Given the description of an element on the screen output the (x, y) to click on. 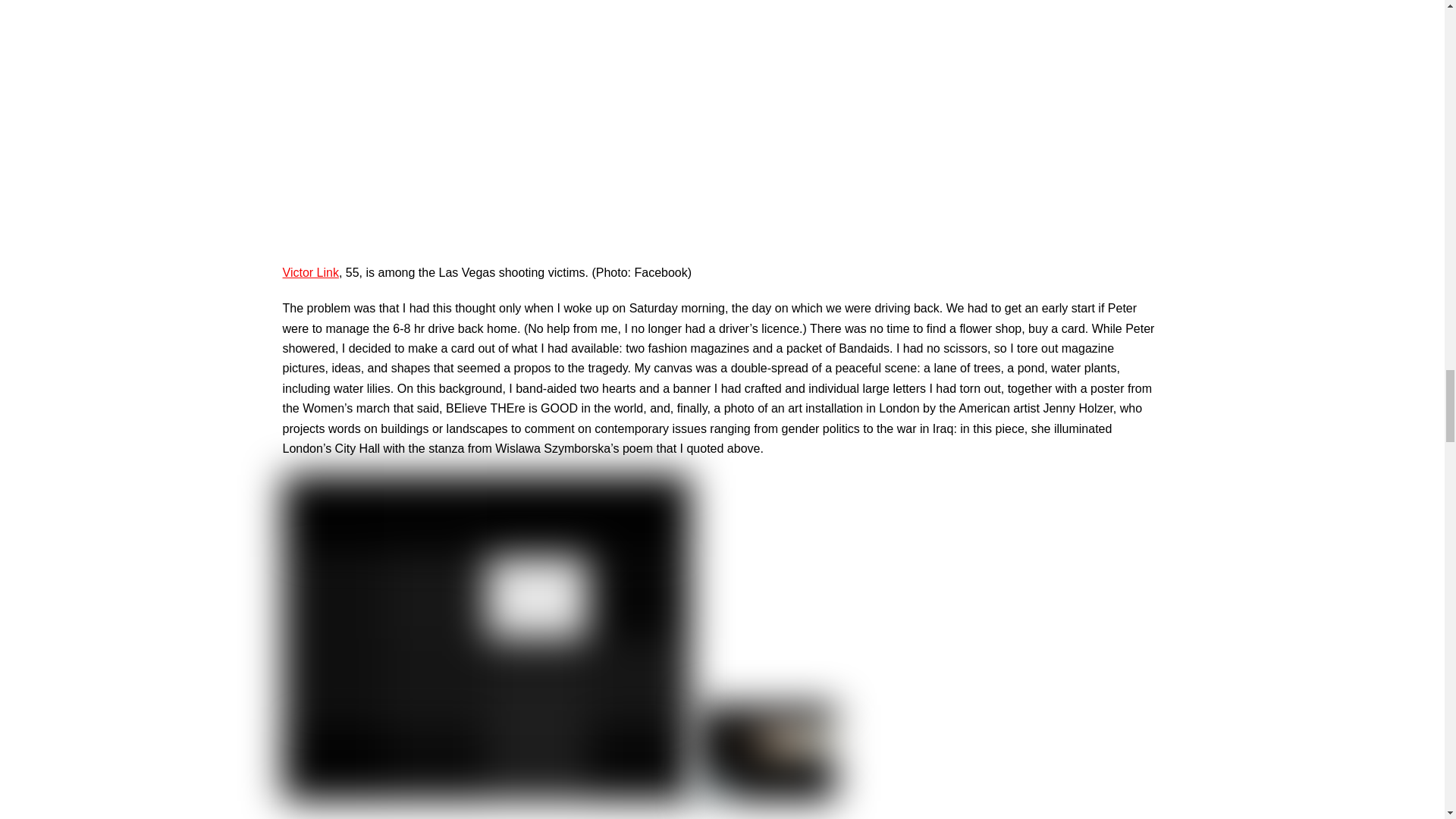
Victor Link (309, 271)
